Given the description of an element on the screen output the (x, y) to click on. 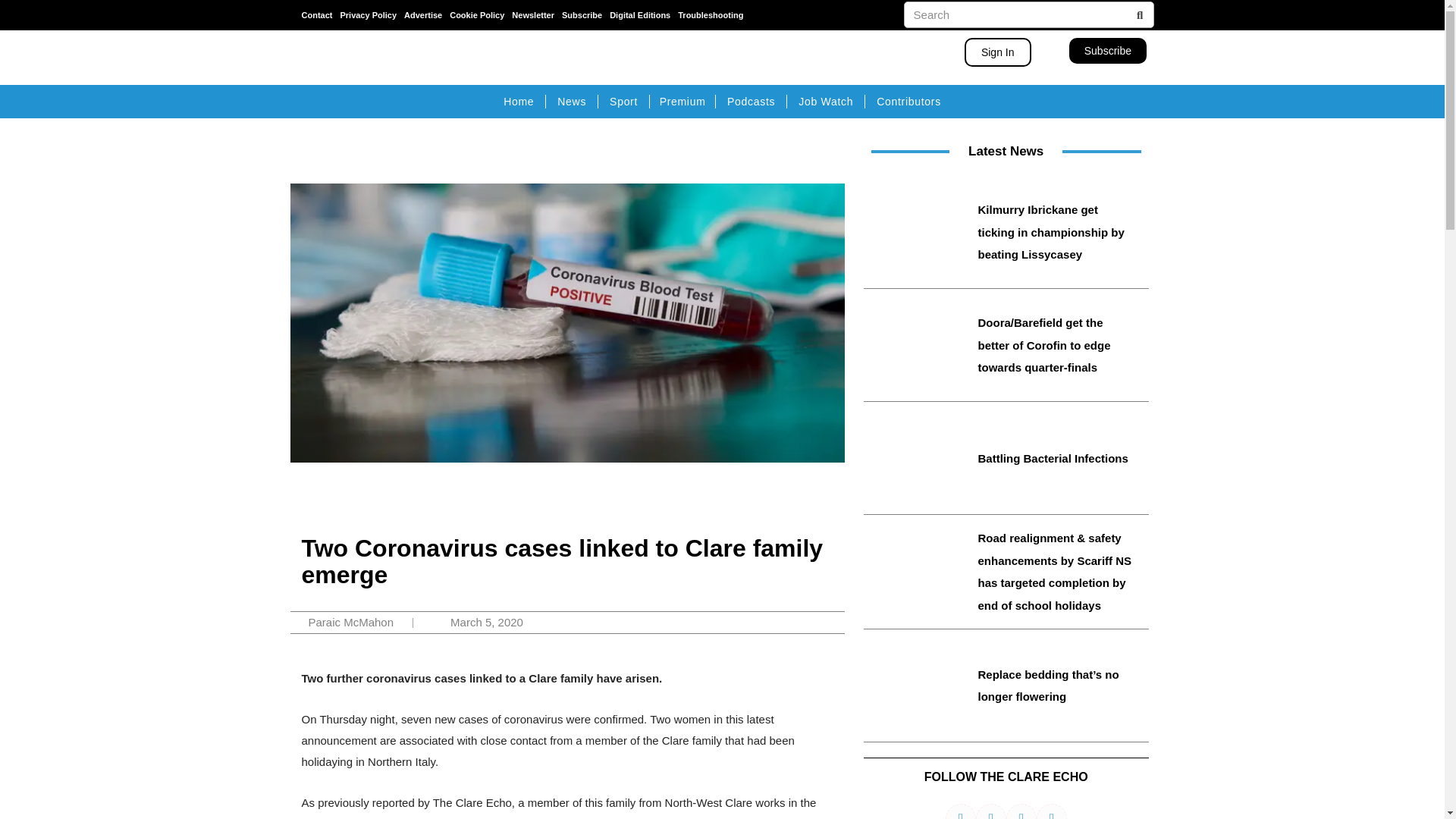
Home (518, 101)
Sign In (996, 51)
Premium (681, 101)
Job Watch (825, 101)
News (572, 101)
Digital Editions (639, 14)
Newsletter (533, 14)
Subscribe (1107, 50)
Contributors (908, 101)
Privacy Policy (367, 14)
